Given the description of an element on the screen output the (x, y) to click on. 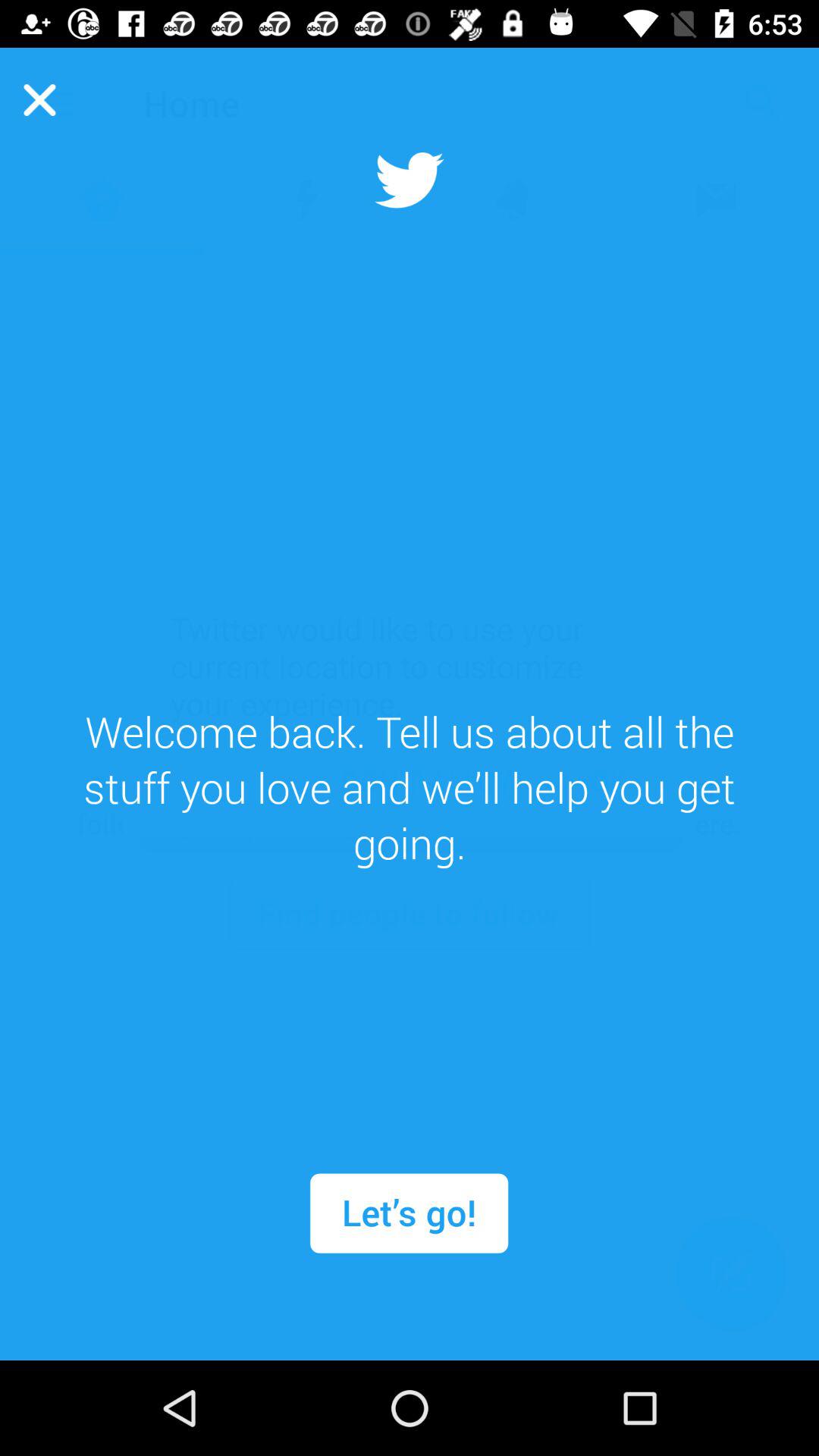
click the item at the top left corner (39, 99)
